Given the description of an element on the screen output the (x, y) to click on. 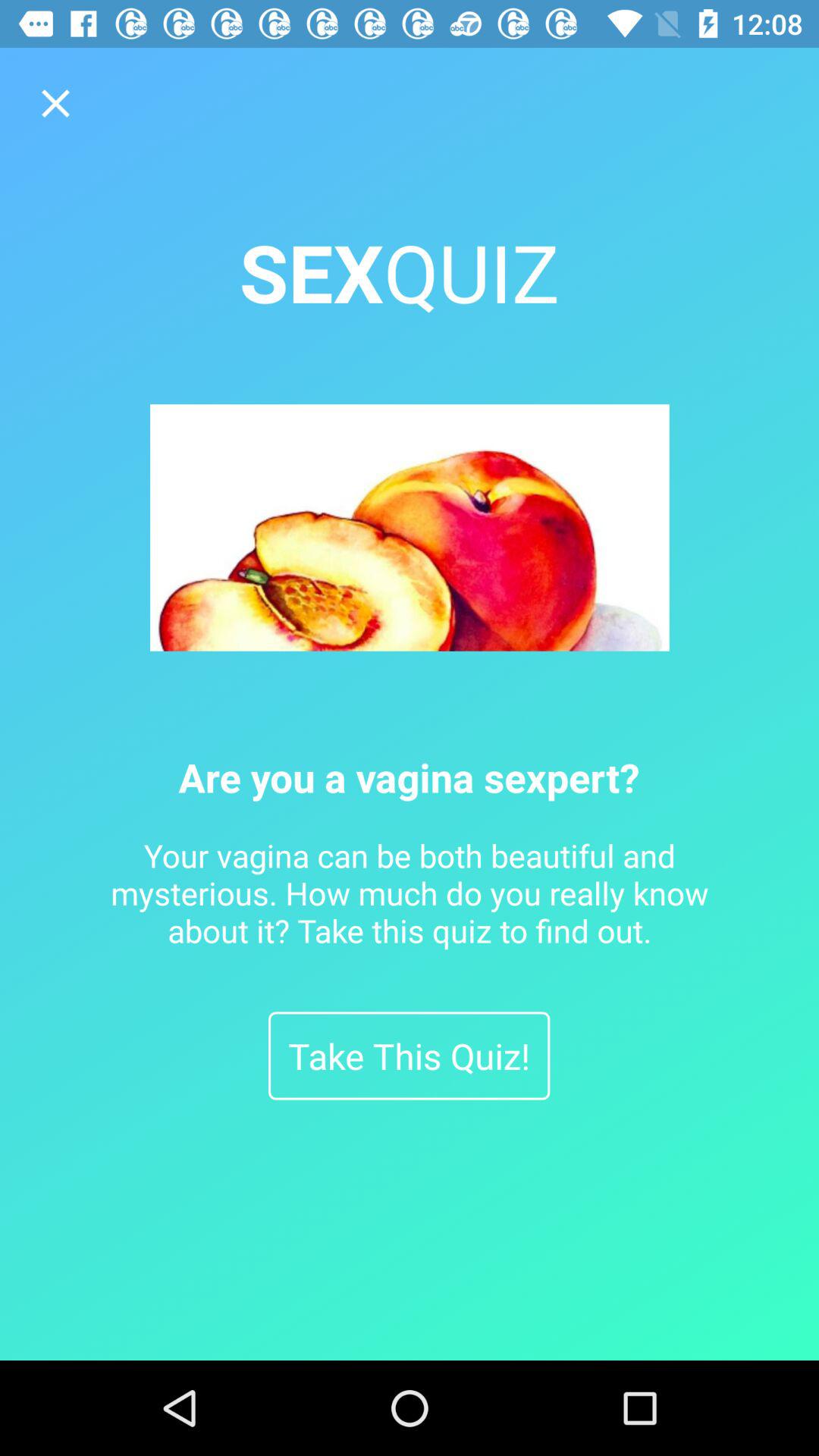
close window (55, 103)
